Given the description of an element on the screen output the (x, y) to click on. 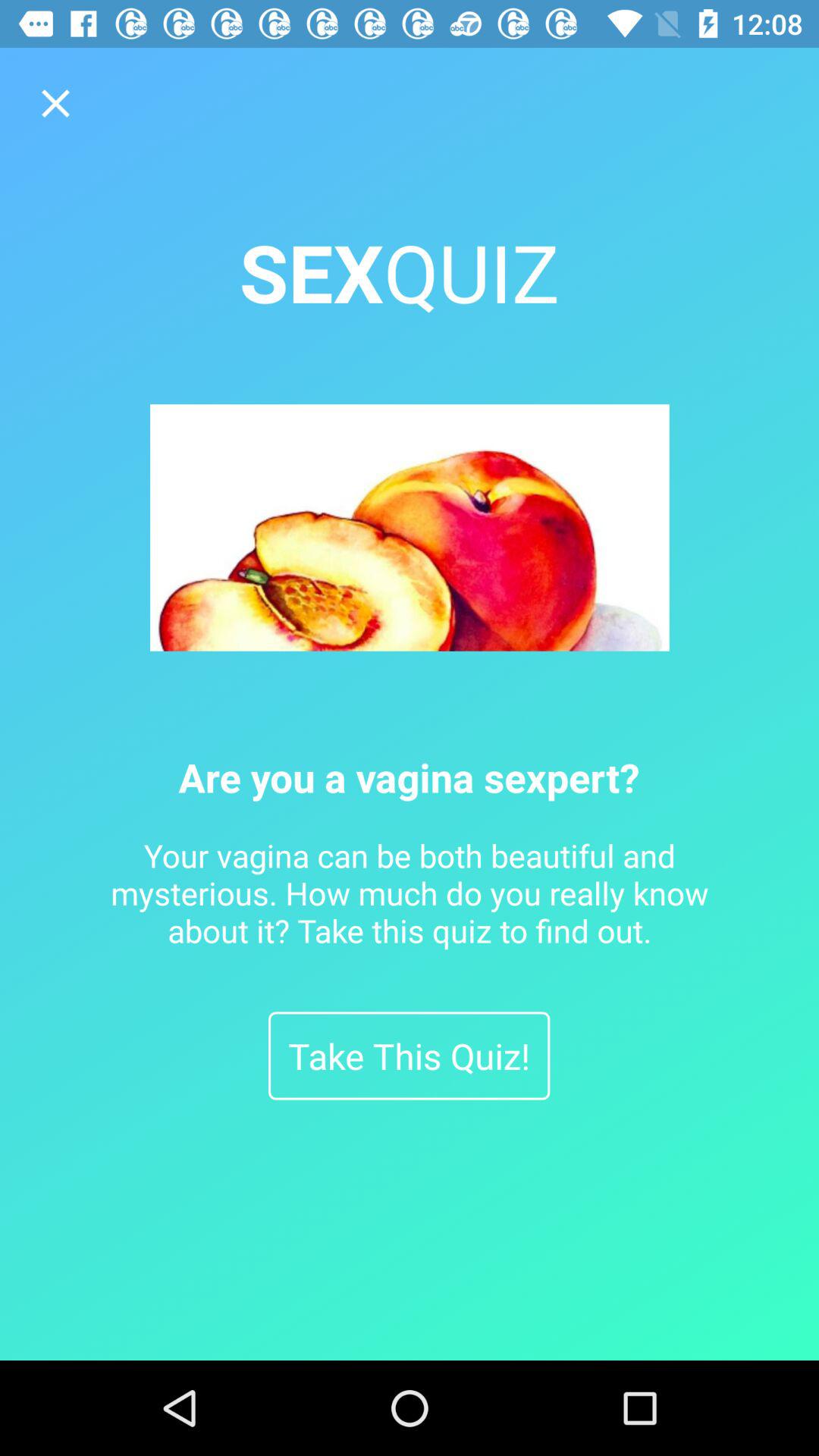
close window (55, 103)
